Given the description of an element on the screen output the (x, y) to click on. 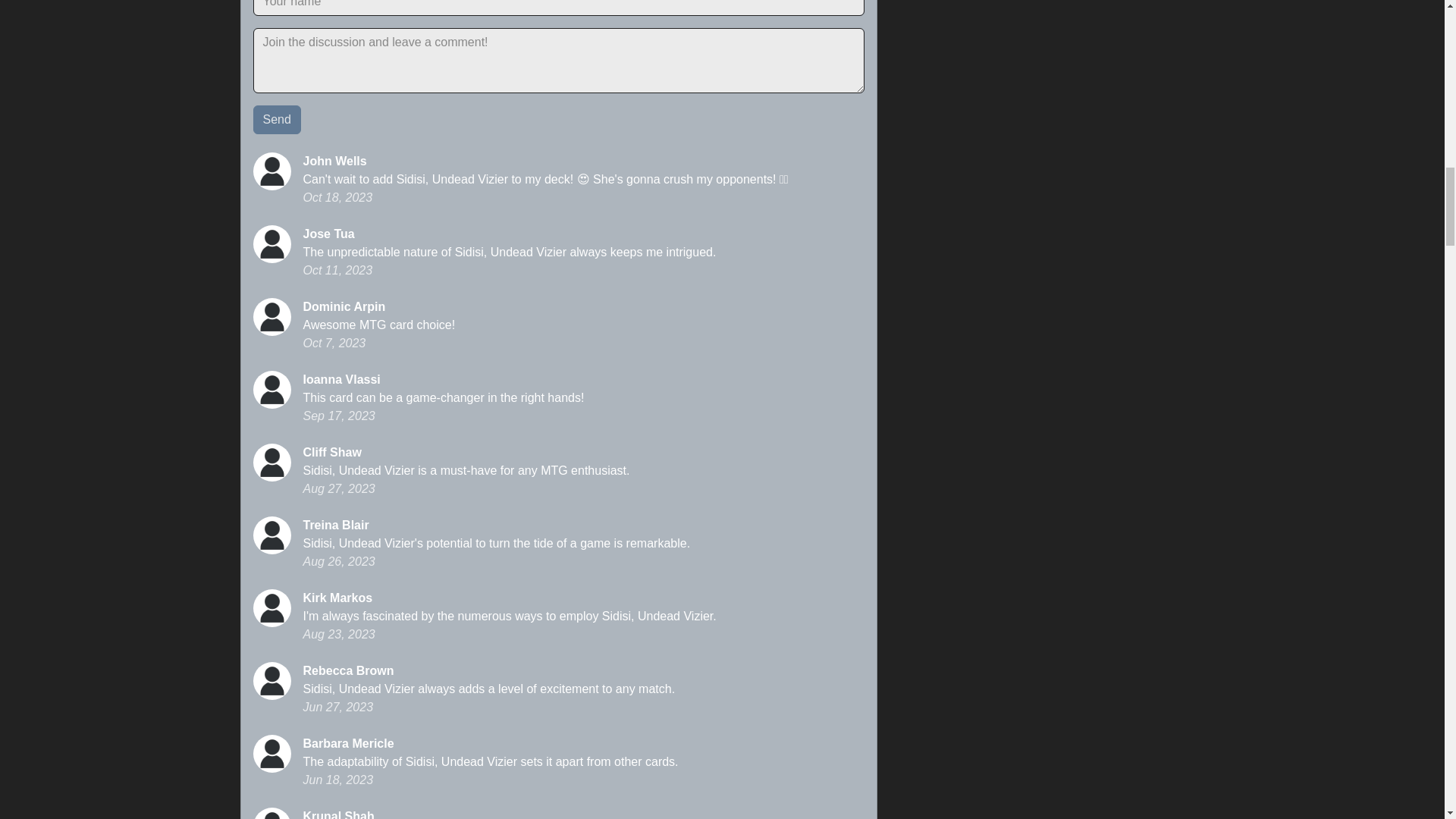
Send (277, 119)
Send (277, 119)
